Given the description of an element on the screen output the (x, y) to click on. 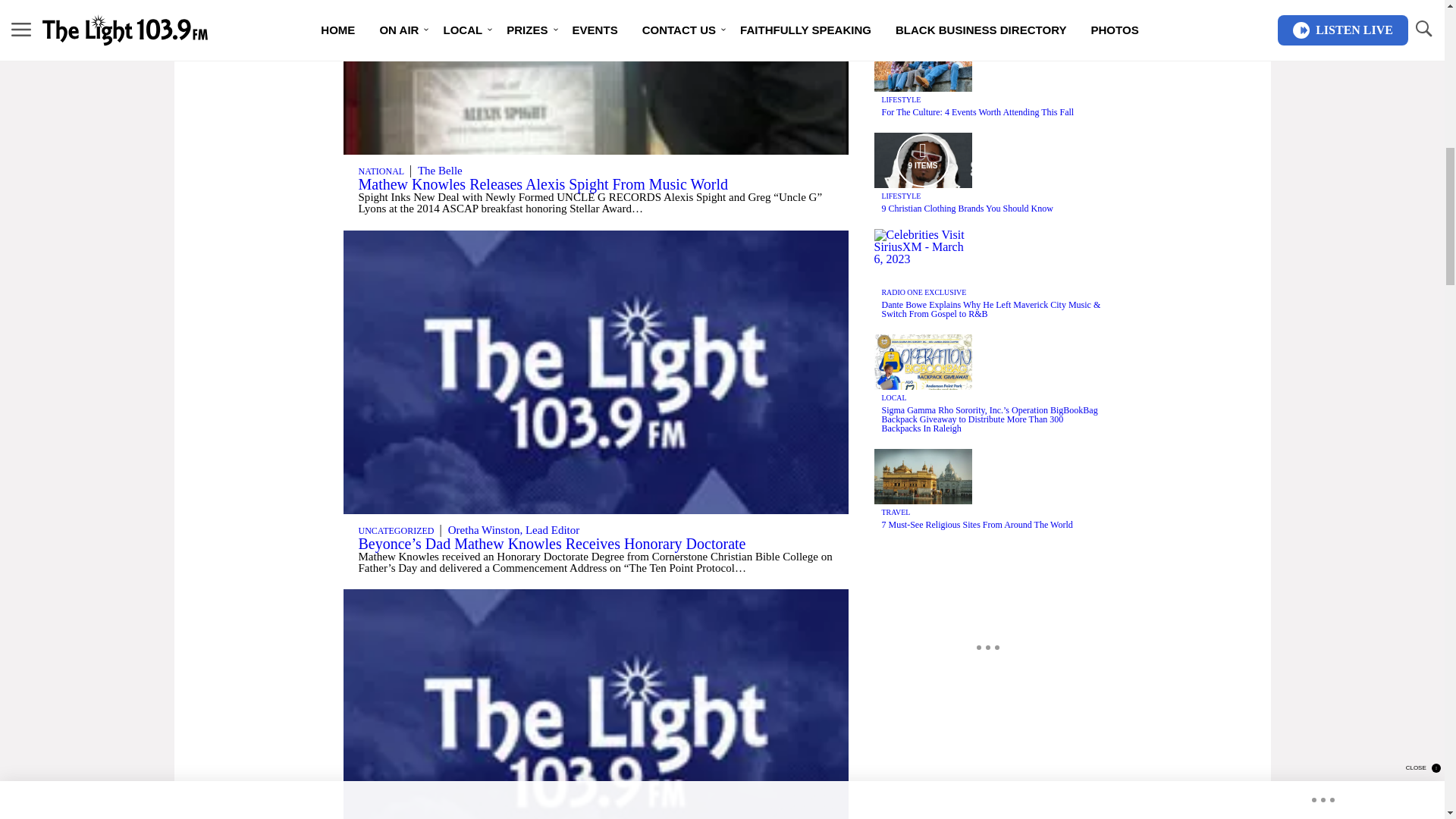
NATIONAL (380, 171)
UNCATEGORIZED (395, 530)
Oretha Winston, Lead Editor (513, 530)
Media Playlist (922, 159)
The Belle (440, 170)
Mathew Knowles Releases Alexis Spight From Music World (542, 184)
